Given the description of an element on the screen output the (x, y) to click on. 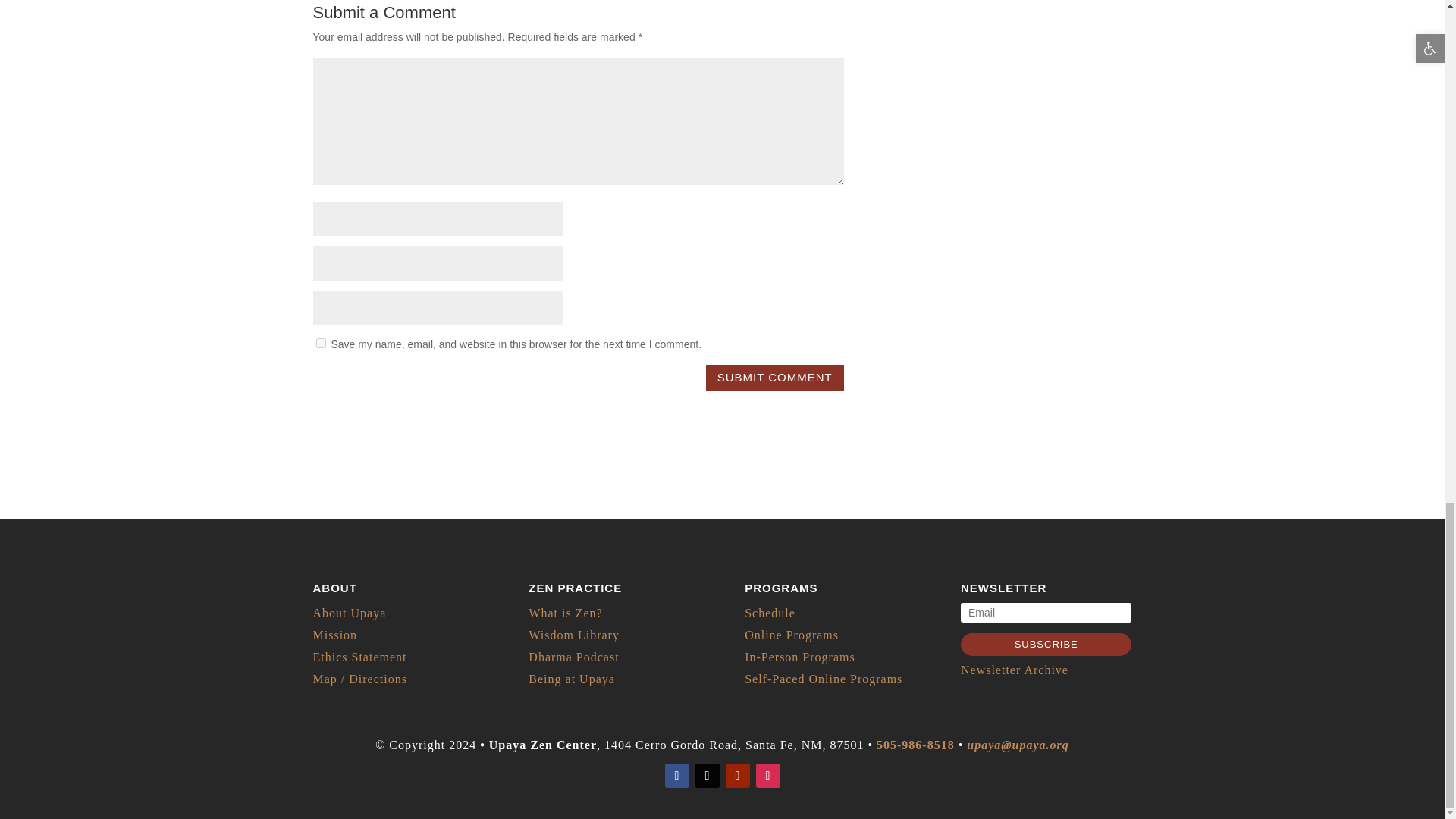
Follow on Instagram (766, 775)
yes (319, 343)
Follow on Facebook (675, 775)
Follow on X (706, 775)
Follow on Youtube (737, 775)
